Given the description of an element on the screen output the (x, y) to click on. 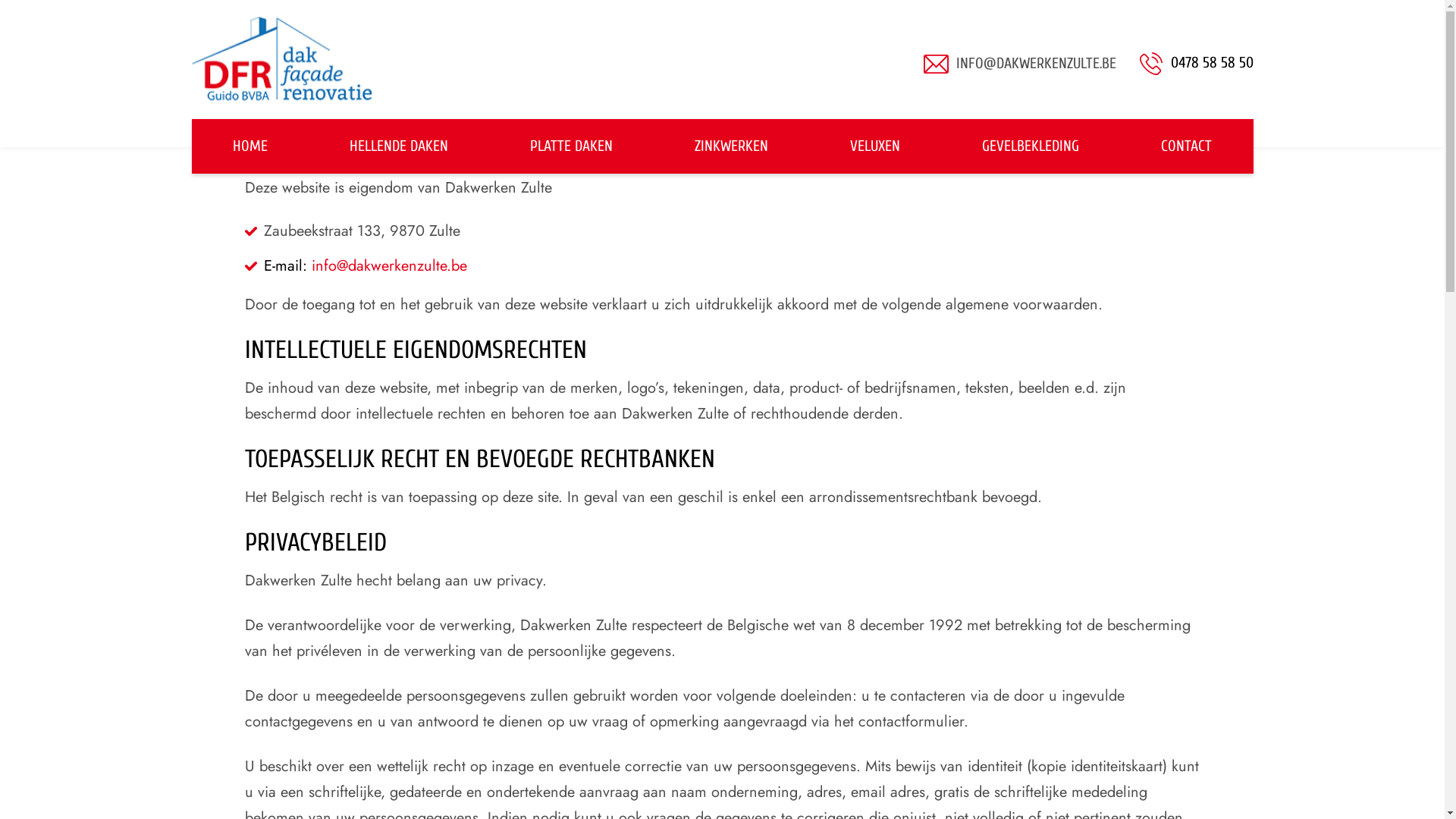
ZINKWERKEN Element type: text (731, 146)
HOME Element type: text (249, 146)
INFO@DAKWERKENZULTE.BE Element type: text (1035, 63)
HELLENDE DAKEN Element type: text (398, 146)
VELUXEN Element type: text (875, 146)
CONTACT Element type: text (1186, 146)
0478 58 58 50 Element type: text (1196, 63)
info@dakwerkenzulte.be Element type: text (388, 265)
GEVELBEKLEDING Element type: text (1030, 146)
PLATTE DAKEN Element type: text (571, 146)
